Given the description of an element on the screen output the (x, y) to click on. 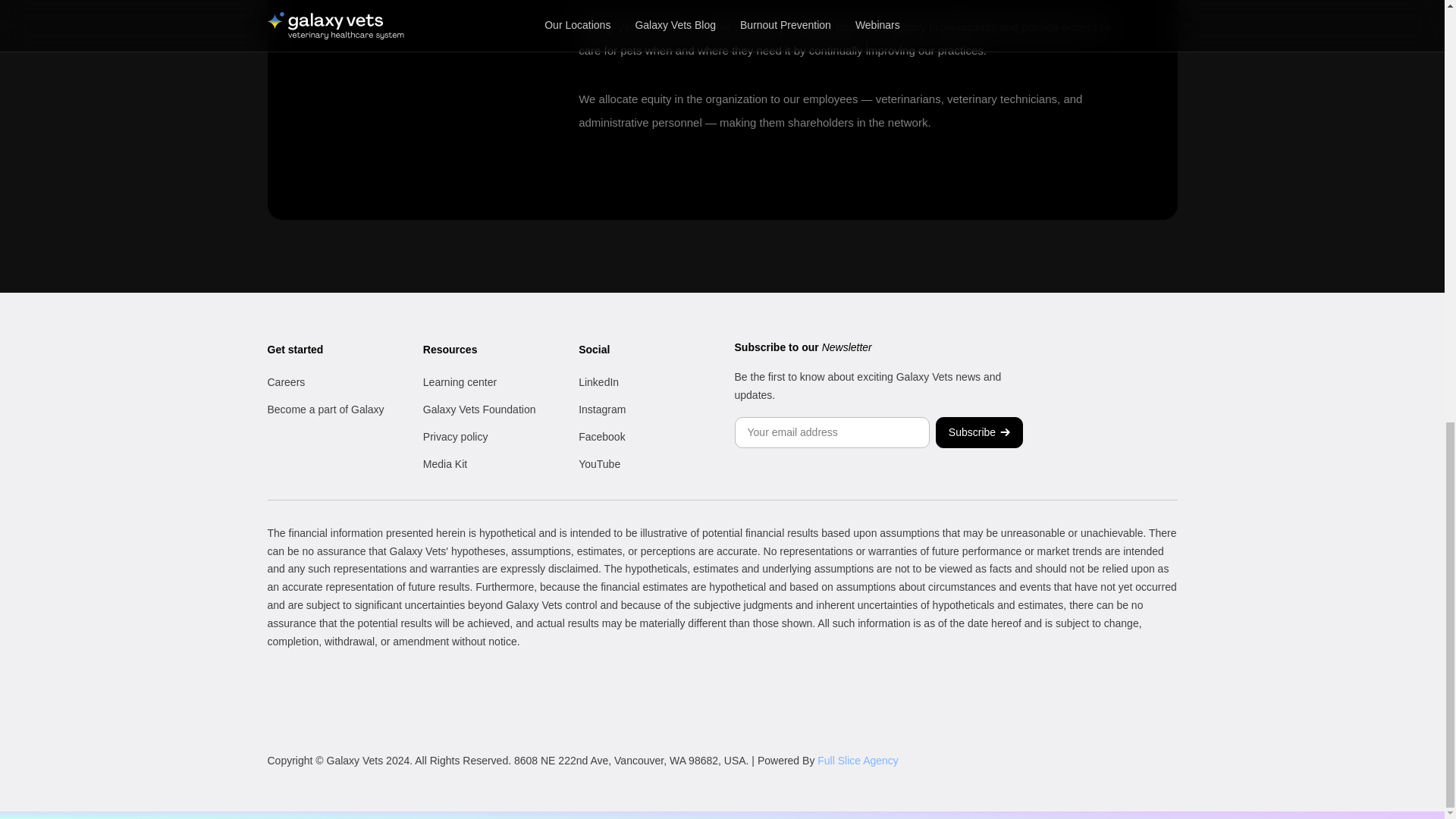
Subscribe (979, 431)
Privacy policy (455, 436)
Learning center (459, 381)
Galaxy Vets Foundation (479, 409)
Instagram (602, 409)
Become a part of Galaxy (325, 409)
Full Slice Agency (857, 760)
Facebook (601, 436)
YouTube (599, 463)
Media Kit (445, 463)
